Given the description of an element on the screen output the (x, y) to click on. 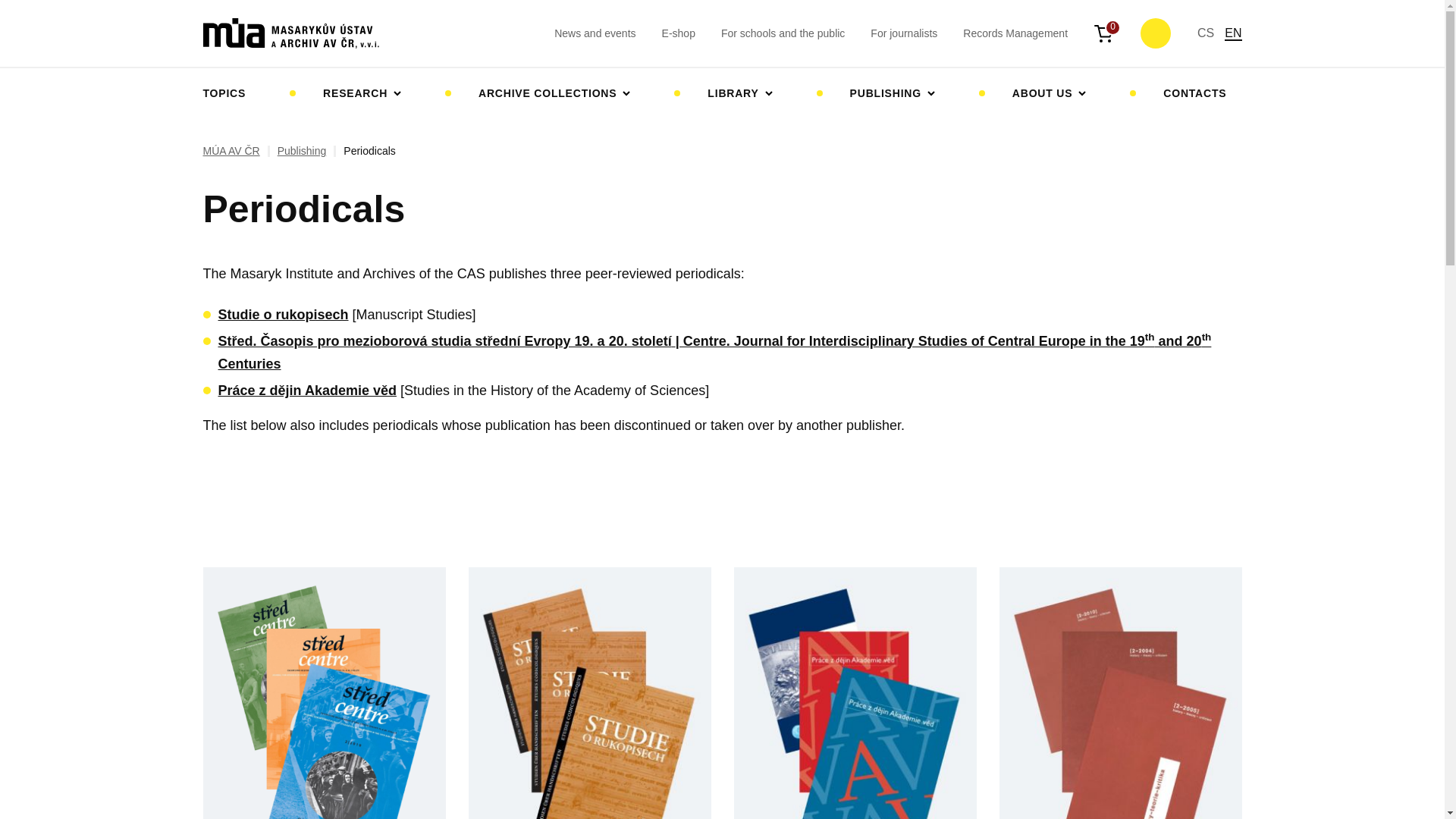
EN (1232, 33)
ABOUT US (1049, 92)
E-shop (678, 33)
PUBLISHING (892, 92)
For schools and the public (782, 33)
CS (1205, 32)
0 (1103, 32)
RESEARCH (361, 92)
Records Management (1014, 33)
News and events (594, 33)
TOPICS (232, 92)
LIBRARY (740, 92)
For journalists (903, 33)
ARCHIVE COLLECTIONS (554, 92)
